Given the description of an element on the screen output the (x, y) to click on. 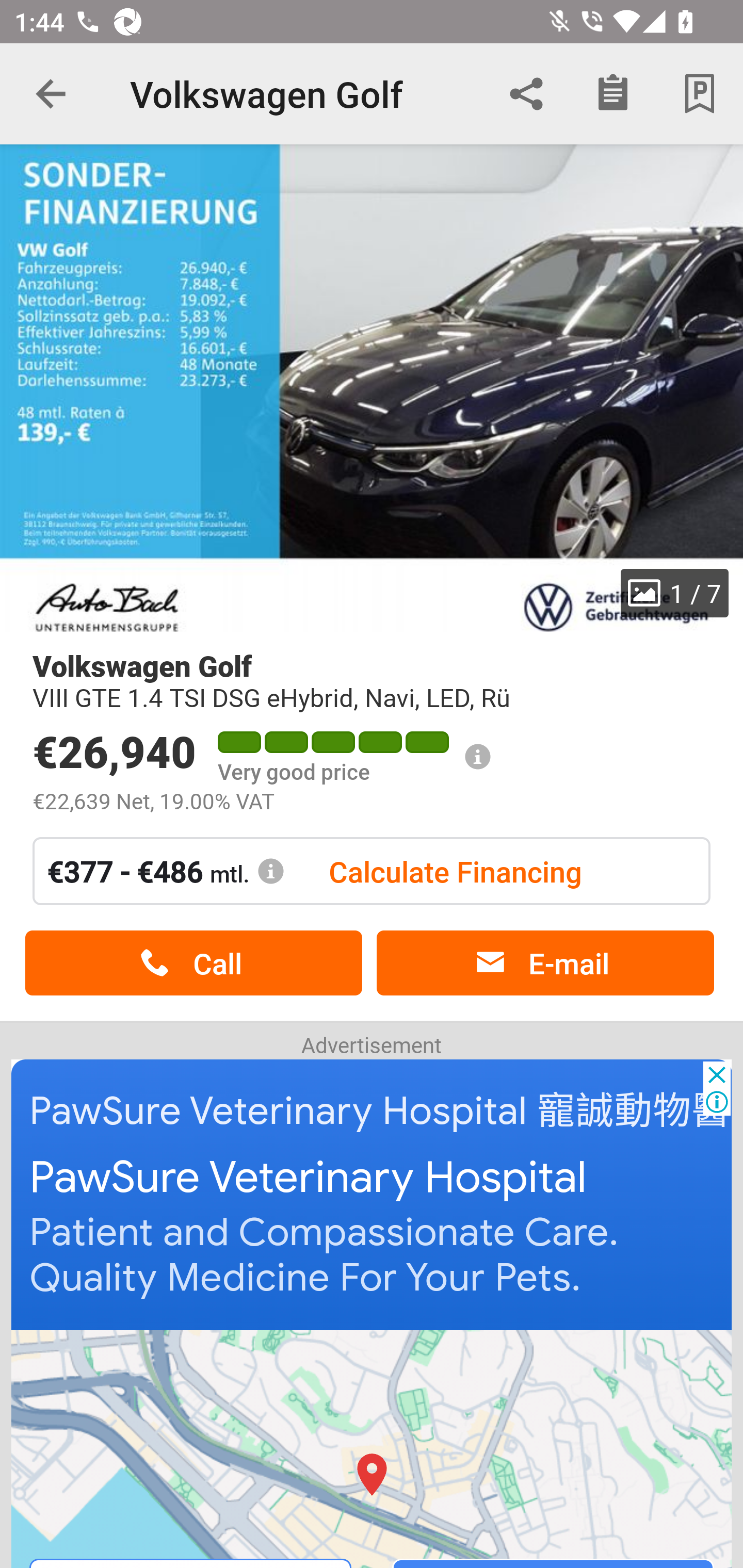
Navigate up (50, 93)
Share via (525, 93)
Checklist (612, 93)
Park (699, 93)
Calculate Financing (454, 870)
€377 - €486 mtl. (165, 870)
Call (193, 963)
E-mail (545, 963)
PawSure Veterinary Hospital 寵誠動物醫院 (386, 1110)
PawSure Veterinary Hospital (307, 1177)
Directions Call (372, 1448)
